Given the description of an element on the screen output the (x, y) to click on. 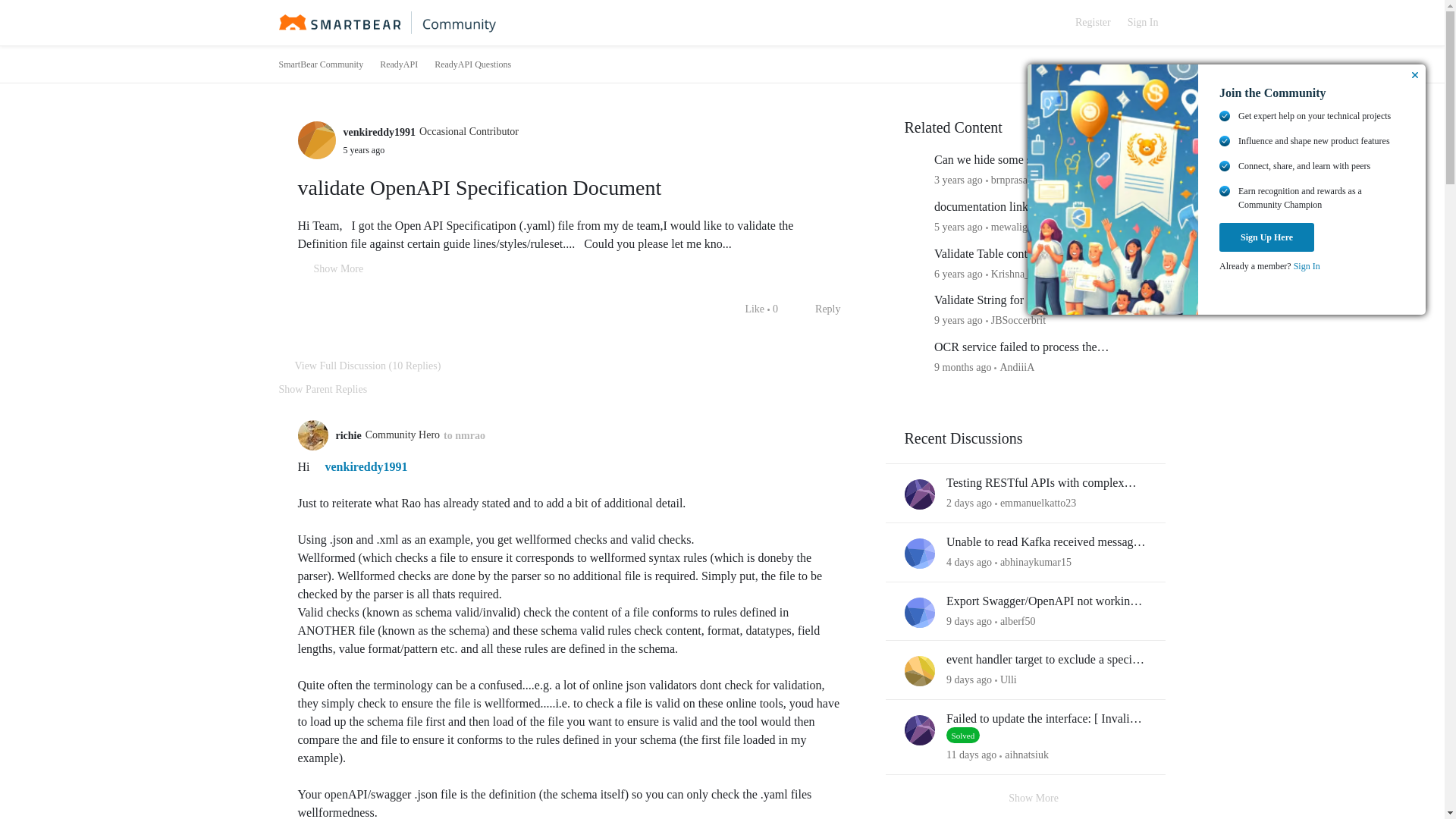
October 23, 2023 at 10:21 AM (962, 367)
Validate Table content in PDF document (1032, 254)
Show Parent Replies (323, 389)
Like (746, 309)
April 8, 2020 at 6:40 PM (363, 149)
Search (1050, 22)
richie (347, 435)
Can we hide some specific endpoints from documentation? (1040, 160)
May 20, 2020 at 4:09 PM (958, 226)
venkireddy1991 (360, 466)
Sign In (1142, 22)
April 23, 2019 at 12:19 PM (958, 273)
OCR service failed to process the document (1040, 347)
